Given the description of an element on the screen output the (x, y) to click on. 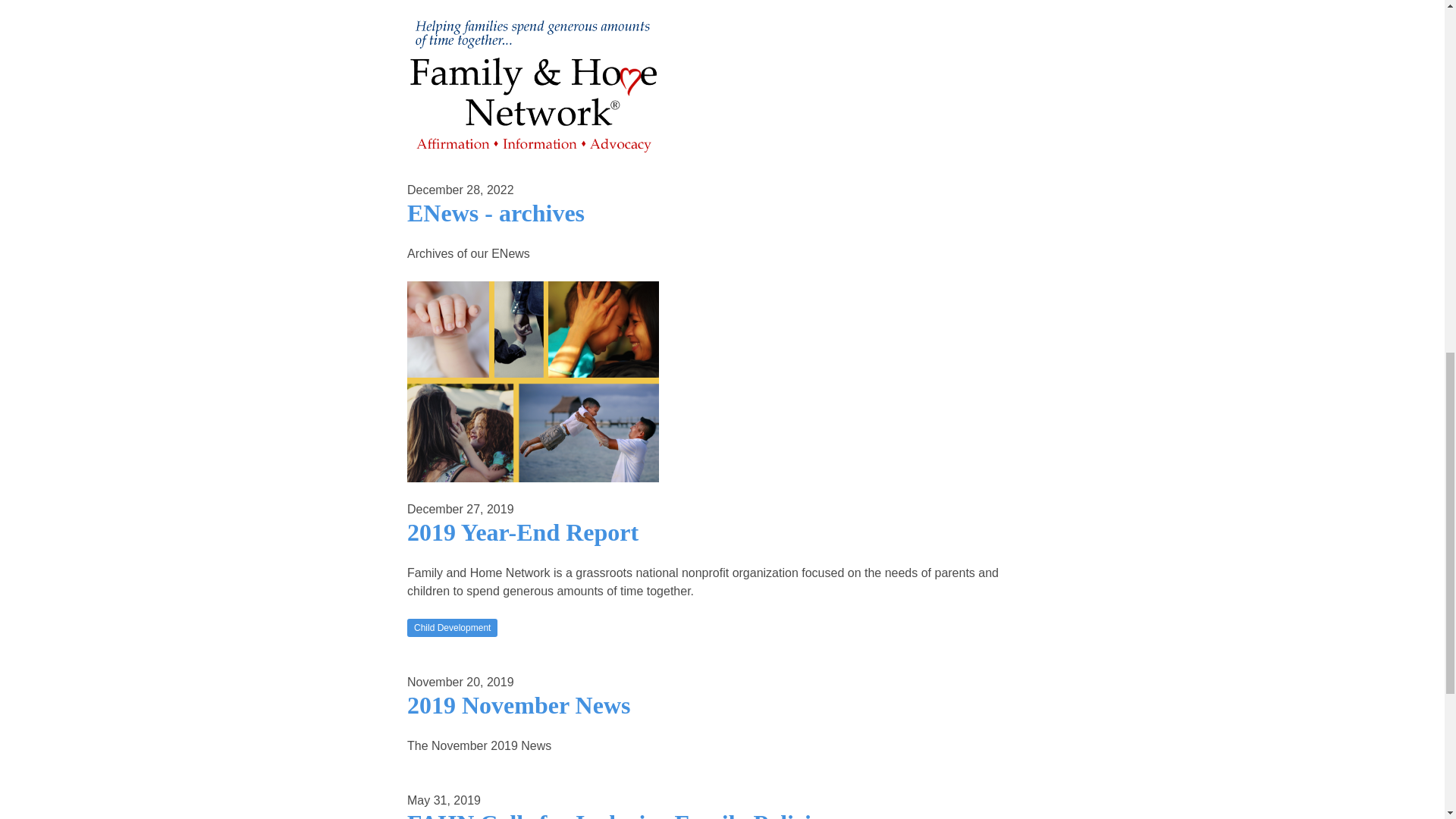
FAHN Calls for Inclusive Family Policies (619, 814)
ENews - archives (496, 212)
Child Development (452, 628)
2019 Year-End Report (523, 532)
2019 November News (518, 705)
